Given the description of an element on the screen output the (x, y) to click on. 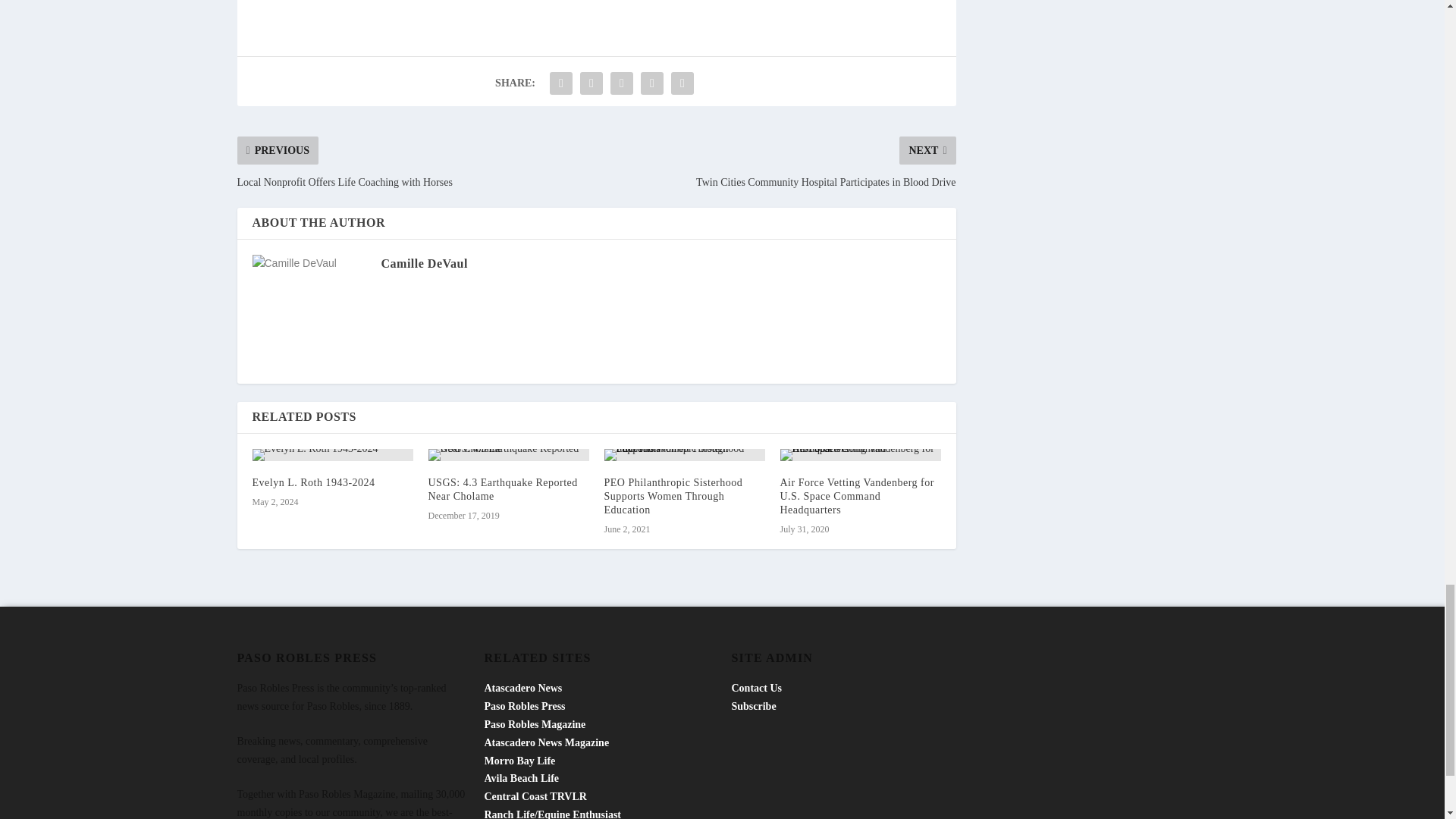
View all posts by Camille DeVaul (423, 263)
Evelyn L. Roth 1943-2024 (312, 482)
Camille DeVaul (423, 263)
